Given the description of an element on the screen output the (x, y) to click on. 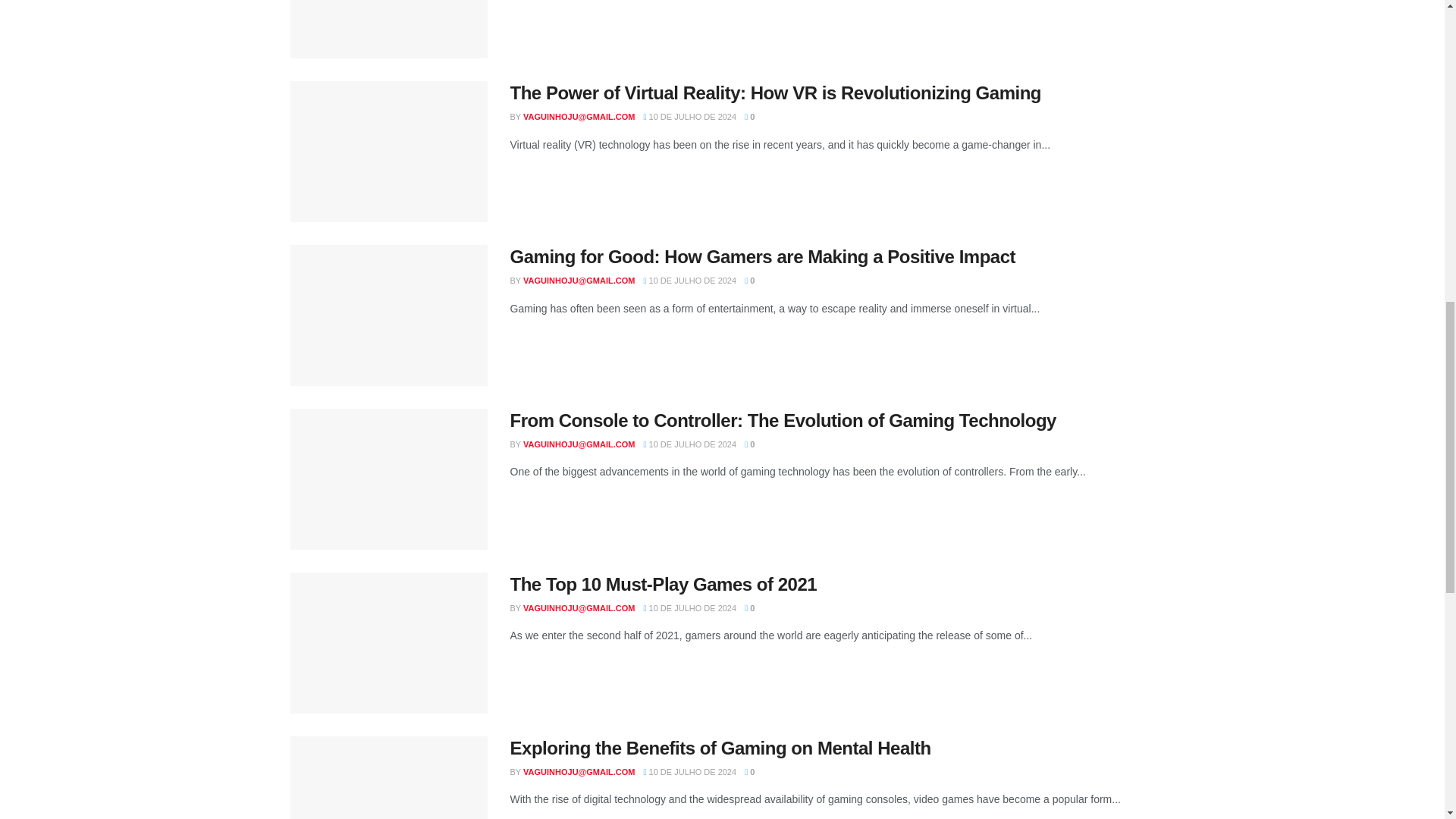
0 (749, 280)
10 DE JULHO DE 2024 (689, 280)
Gaming for Good: How Gamers are Making a Positive Impact (761, 256)
0 (749, 116)
10 DE JULHO DE 2024 (689, 116)
